Given the description of an element on the screen output the (x, y) to click on. 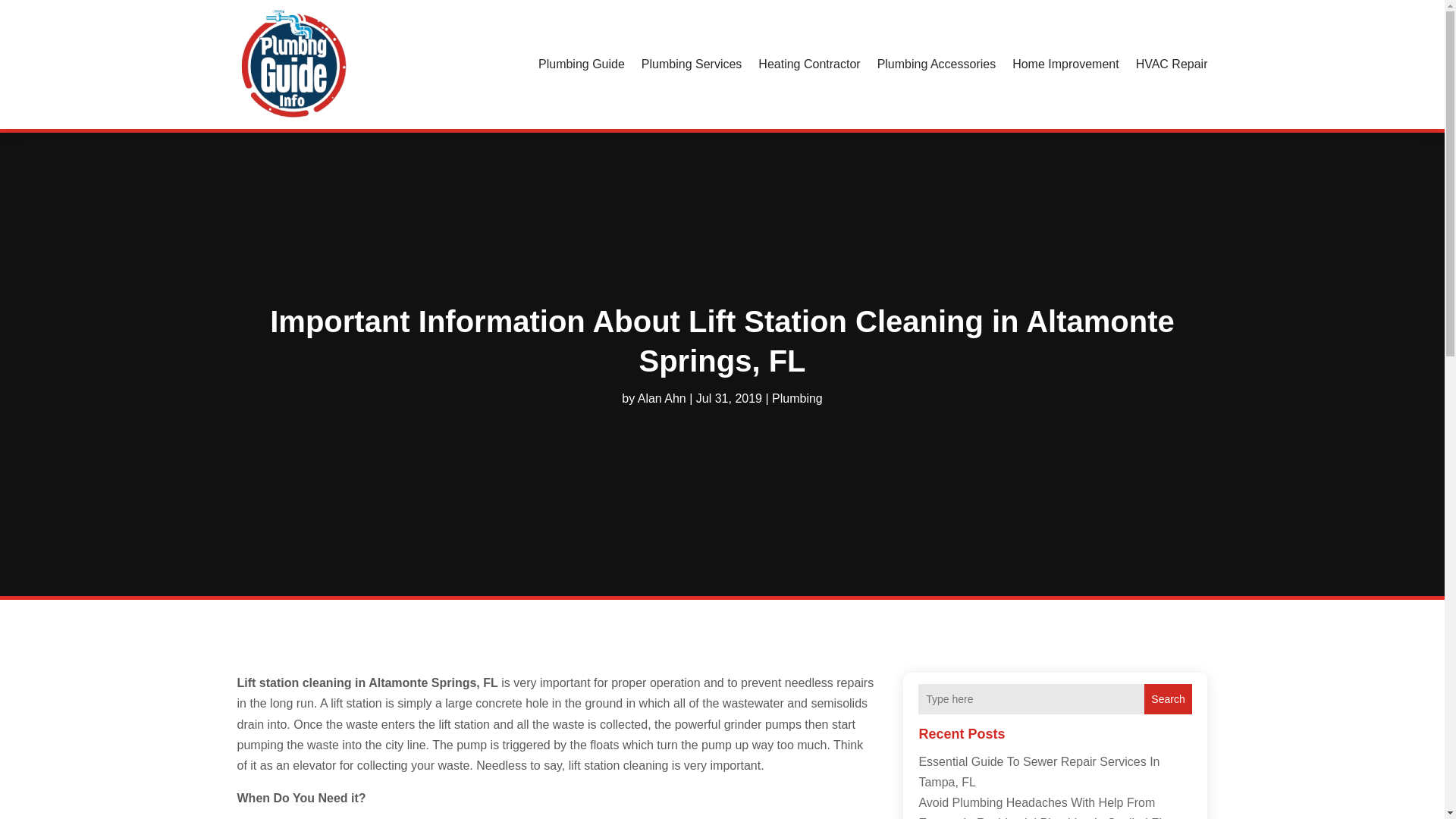
Posts by Alan Ahn (661, 397)
Heating Contractor (809, 64)
Plumbing (796, 397)
Plumbing Accessories (936, 64)
Essential Guide To Sewer Repair Services In Tampa, FL (1038, 771)
Alan Ahn (661, 397)
Search (1168, 698)
Home Improvement (1065, 64)
